Given the description of an element on the screen output the (x, y) to click on. 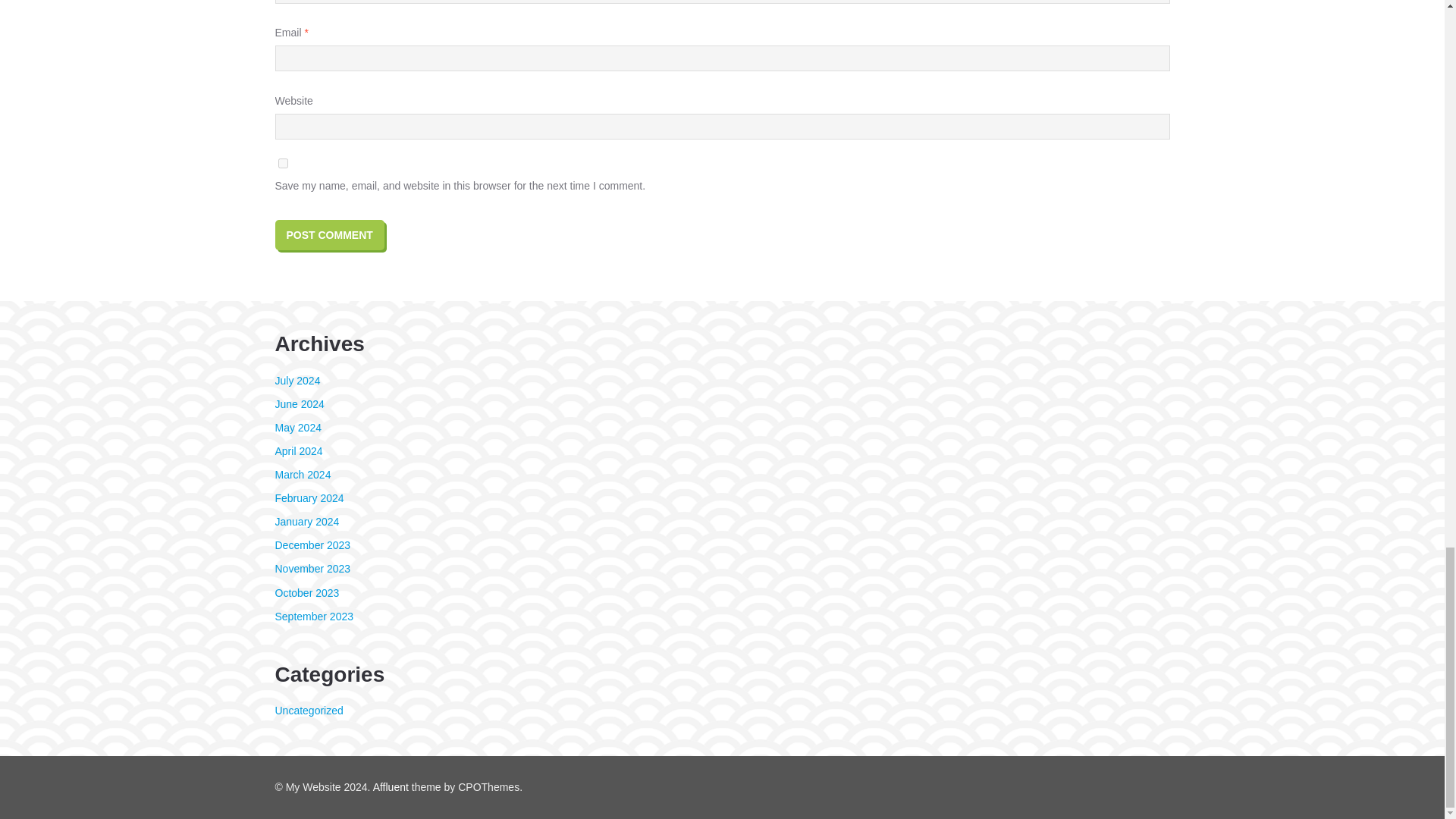
Affluent (390, 787)
Uncategorized (308, 710)
January 2024 (307, 521)
November 2023 (312, 568)
June 2024 (299, 404)
February 2024 (309, 498)
October 2023 (307, 592)
September 2023 (314, 616)
April 2024 (298, 451)
March 2024 (302, 474)
Post Comment (329, 235)
July 2024 (297, 380)
December 2023 (312, 544)
yes (282, 163)
Post Comment (329, 235)
